Given the description of an element on the screen output the (x, y) to click on. 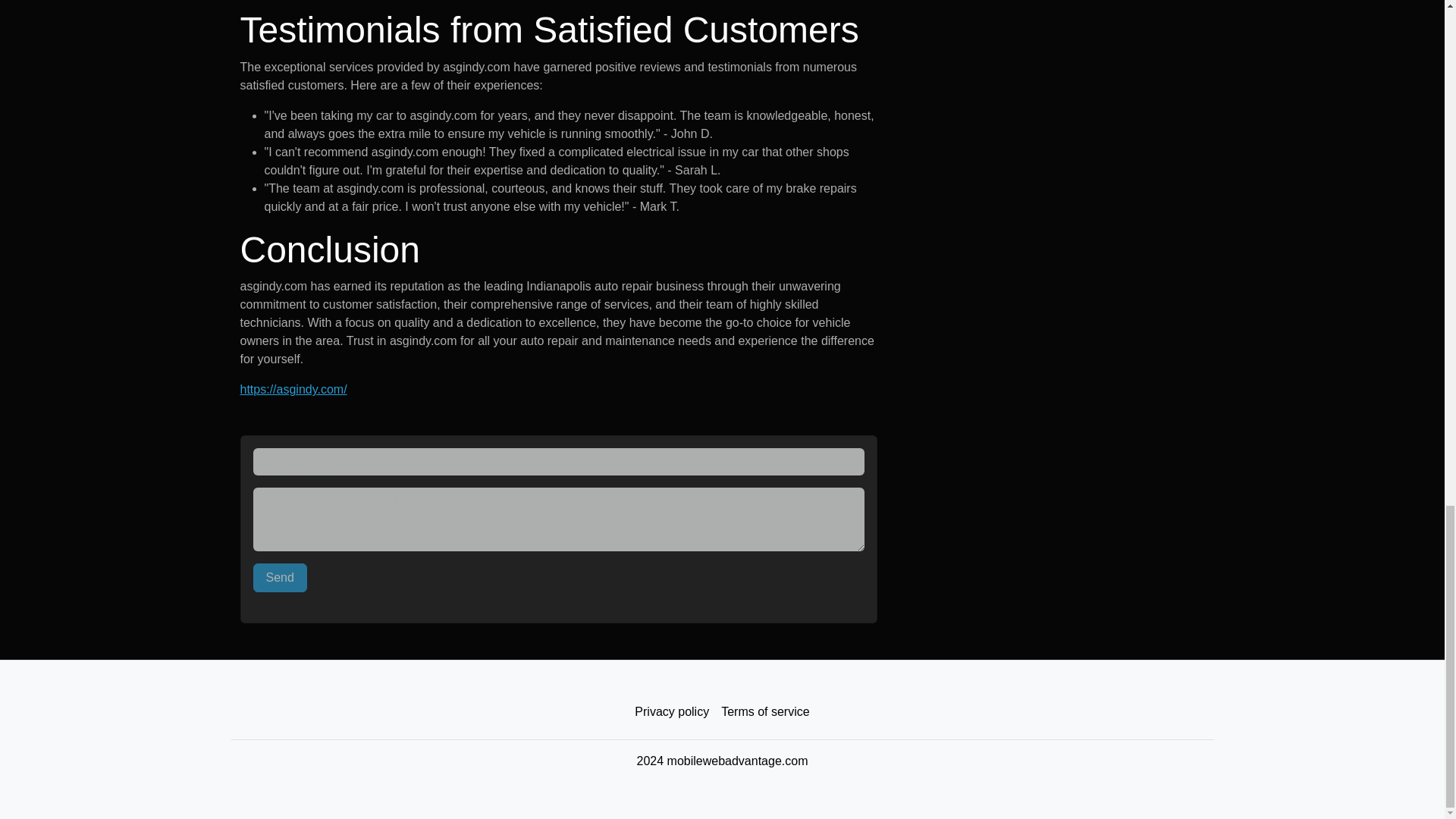
Send (280, 577)
Terms of service (764, 711)
Send (280, 577)
Privacy policy (671, 711)
